Given the description of an element on the screen output the (x, y) to click on. 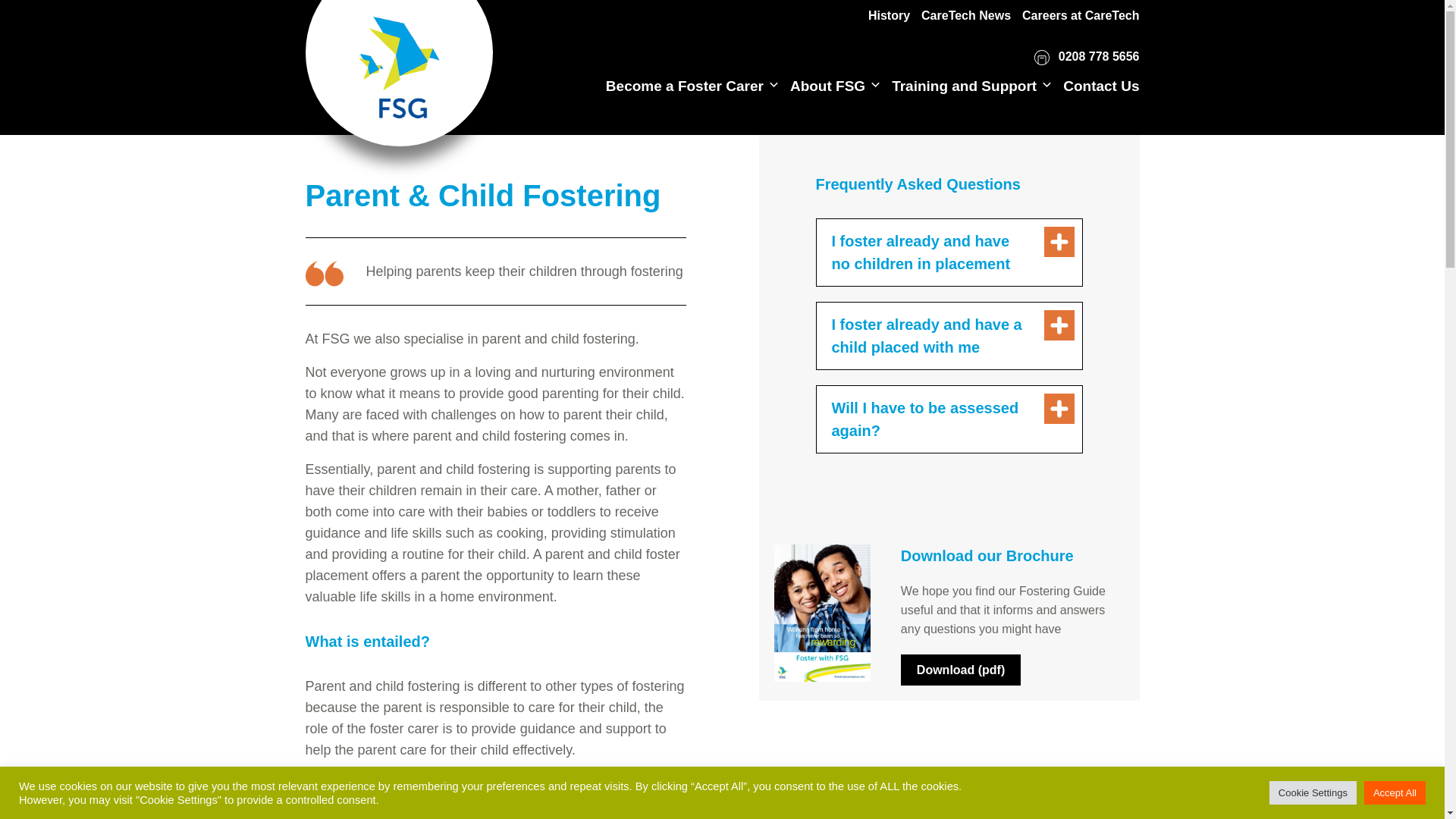
Contact Us (1100, 85)
About FSG (827, 85)
Become a Foster Carer (683, 85)
History (888, 15)
CareTech News (965, 15)
Become a Foster Carer (683, 85)
I foster already and have no children in placement (948, 252)
Fostering Support Group (398, 59)
Contact Us (1100, 85)
History (888, 15)
About FSG (827, 85)
Careers at CareTech (1080, 15)
Training and Support (963, 85)
0208 778 5656 (1085, 58)
Will I have to be assessed again? (948, 419)
